Given the description of an element on the screen output the (x, y) to click on. 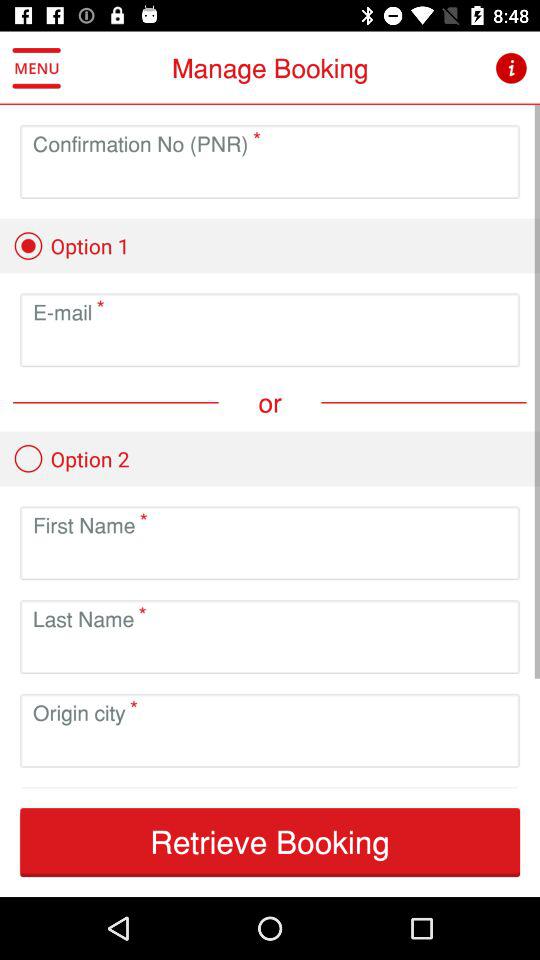
choose icon above the e-mail (71, 245)
